Given the description of an element on the screen output the (x, y) to click on. 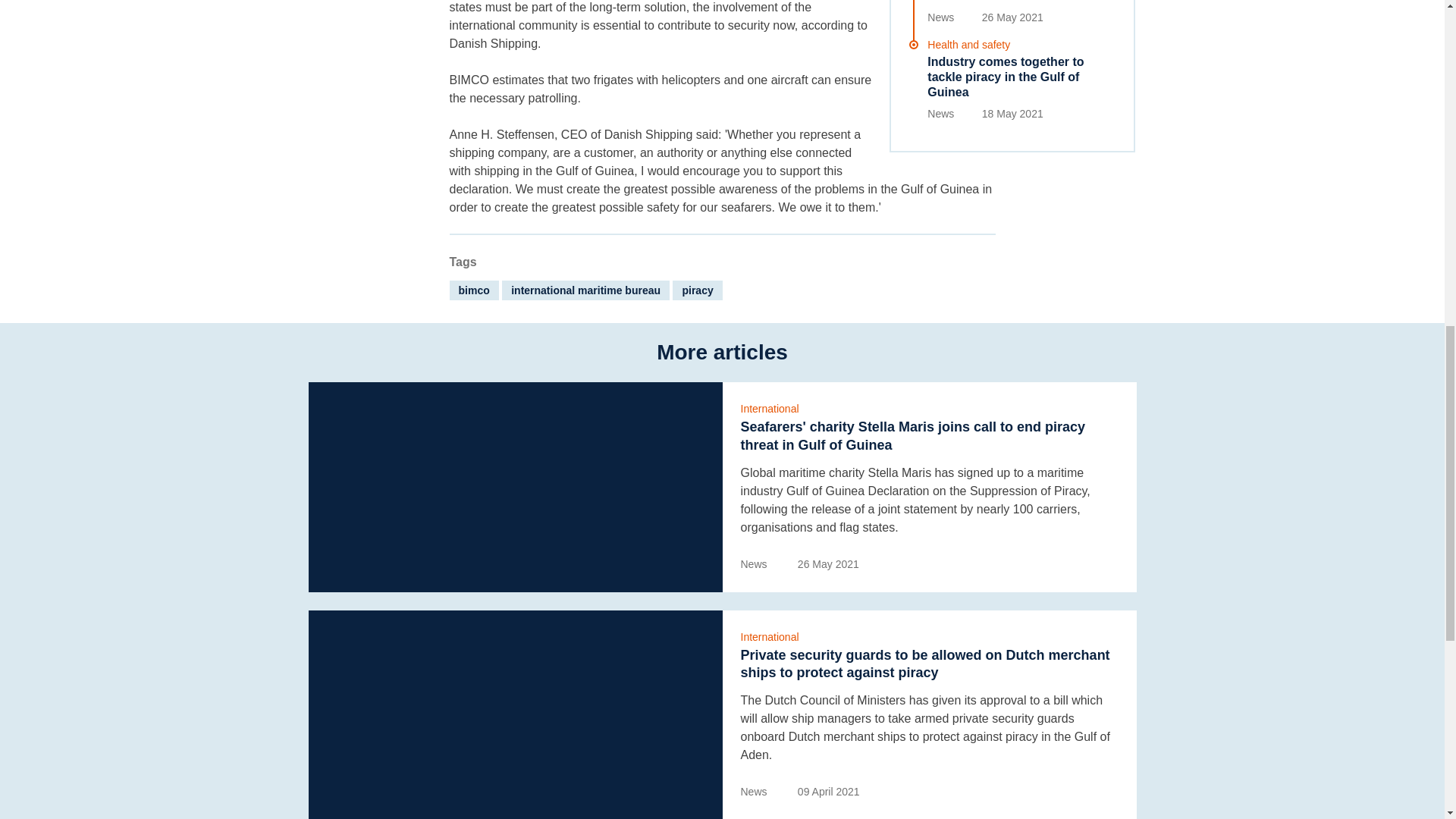
piracy (697, 290)
bimco (472, 290)
international maritime bureau (585, 290)
